Given the description of an element on the screen output the (x, y) to click on. 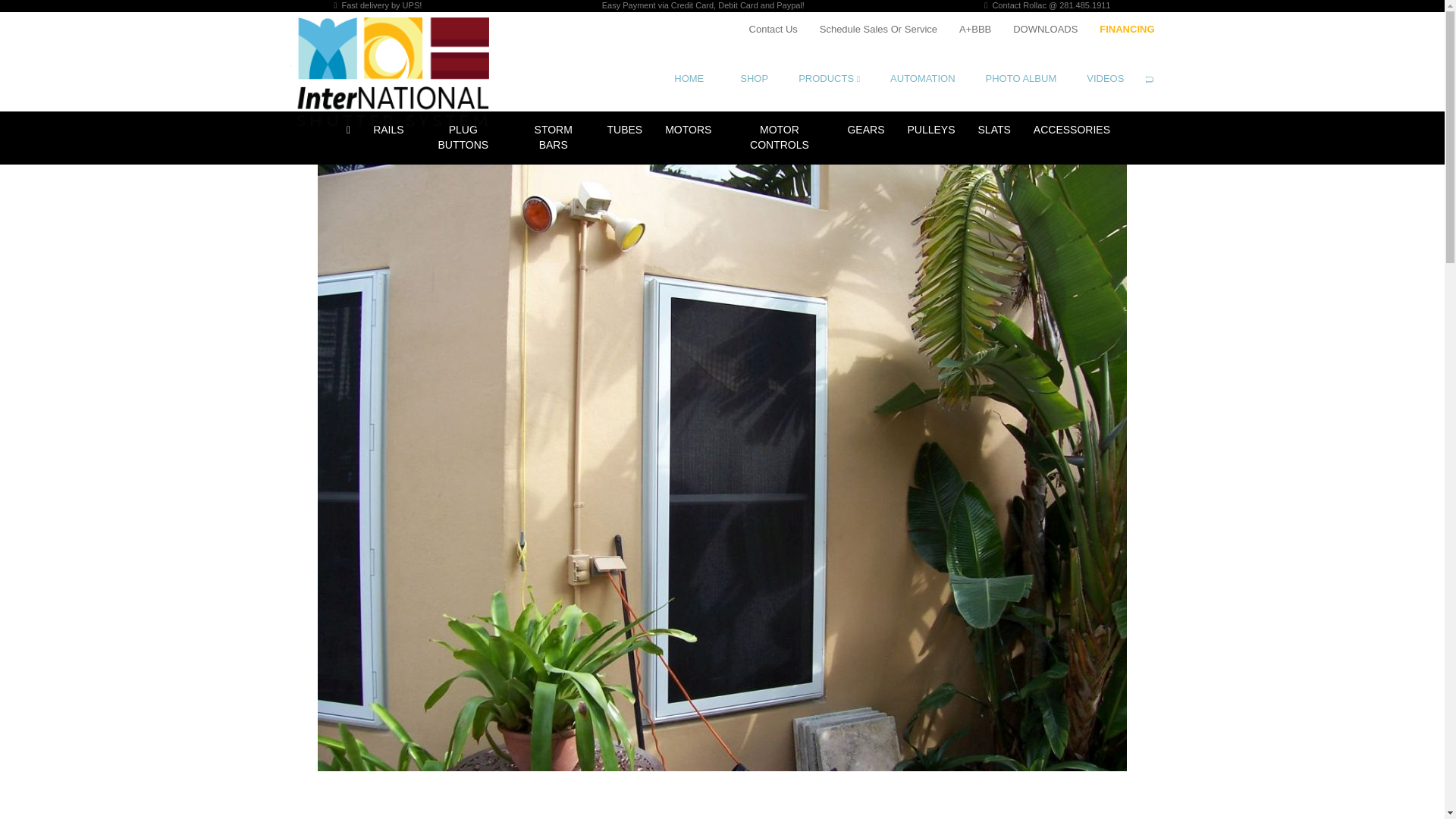
INTERNATIONAL SHUTTER SYSTEM INC (400, 75)
Schedule Sales Or Service (878, 29)
FINANCING (1126, 29)
PHOTO ALBUM (1021, 78)
VIDEOS (1104, 78)
DOWNLOADS (1045, 29)
AUTOMATION (922, 78)
HOME (699, 78)
SHOP (754, 78)
PRODUCTS (829, 78)
